Given the description of an element on the screen output the (x, y) to click on. 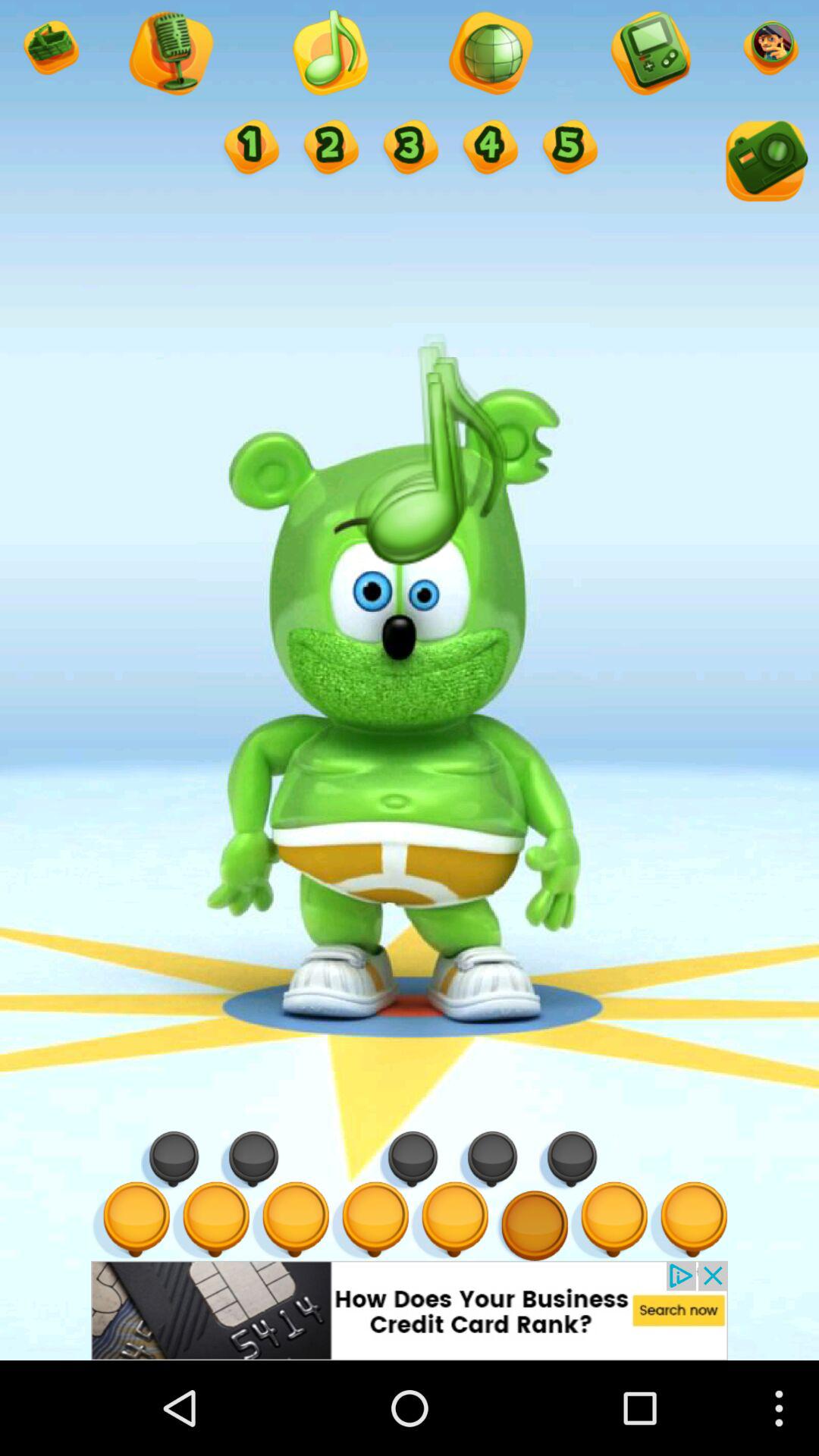
open shop (49, 49)
